Given the description of an element on the screen output the (x, y) to click on. 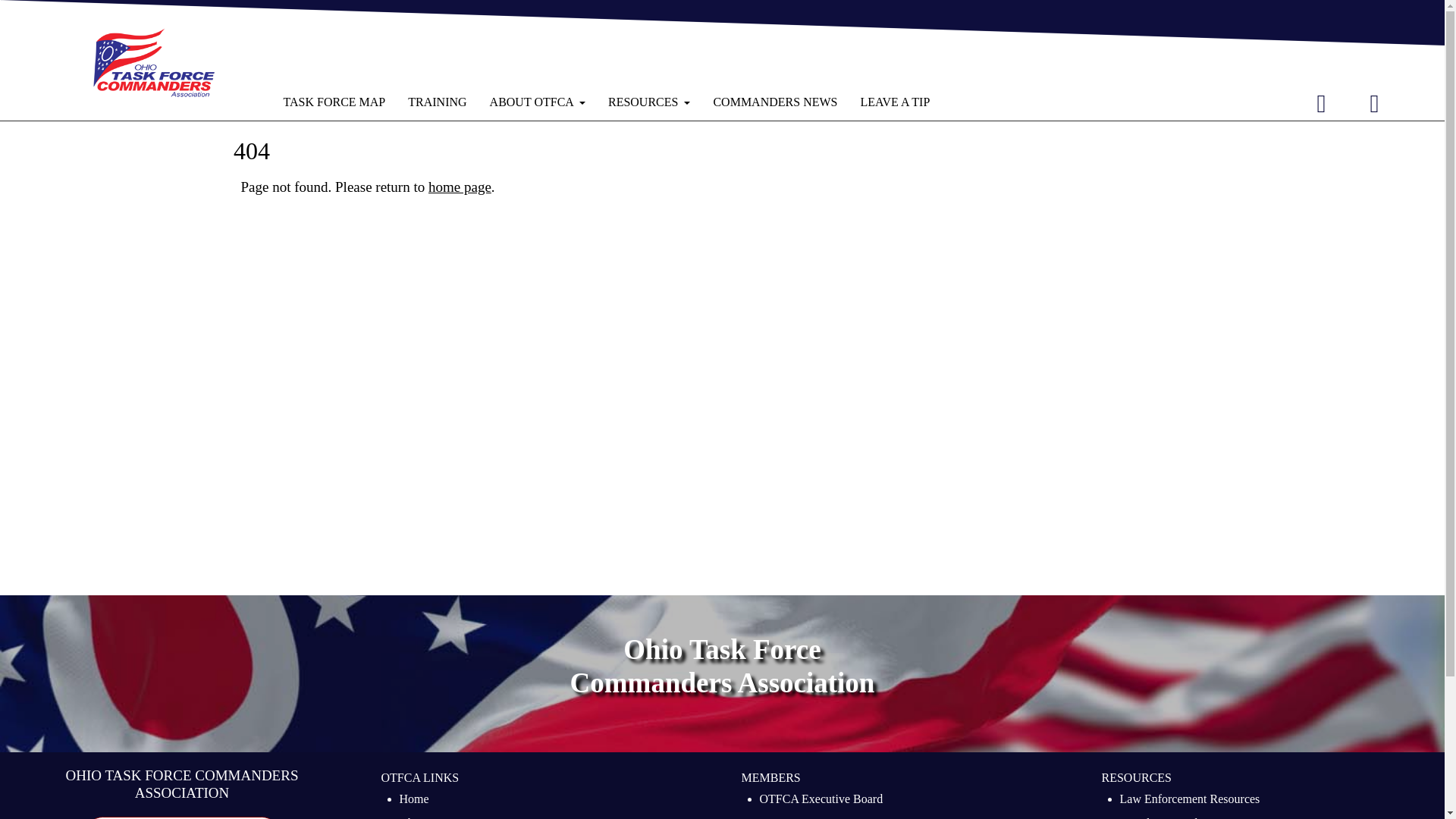
LEAVE A TIP (181, 817)
home page (460, 186)
Law Enforcement Resources (1189, 800)
About OTFCA (434, 816)
leave a tip button (181, 817)
ABOUT OTFCA (537, 101)
Home (413, 800)
TASK FORCE MAP (333, 101)
OTFCA District Directors (823, 816)
RESOURCES (648, 101)
OTFCA Executive Board (821, 800)
TRAINING (436, 101)
Legislative Updates (1167, 816)
COMMANDERS NEWS (774, 101)
LEAVE A TIP (894, 101)
